Given the description of an element on the screen output the (x, y) to click on. 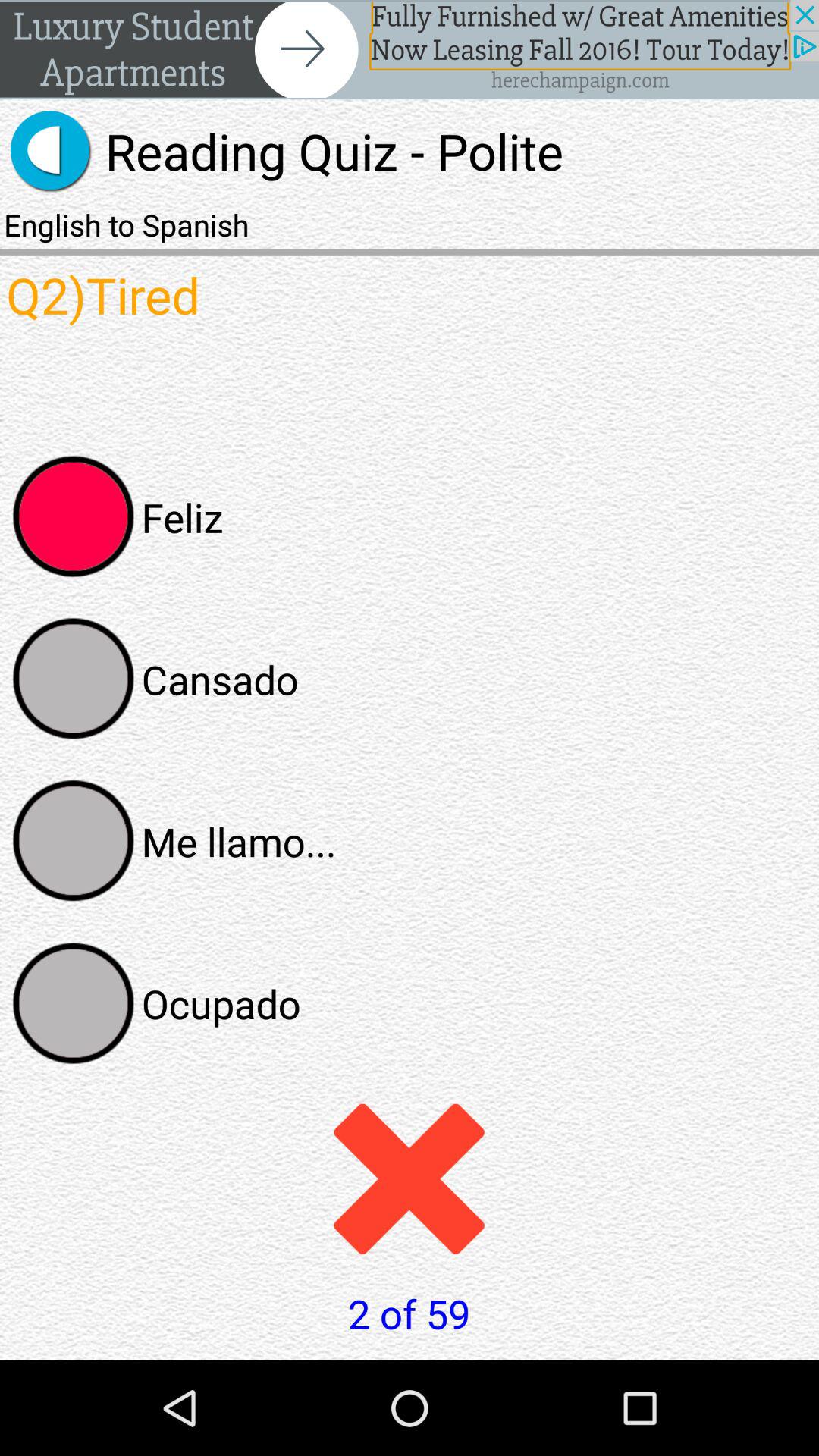
select answer (73, 516)
